Given the description of an element on the screen output the (x, y) to click on. 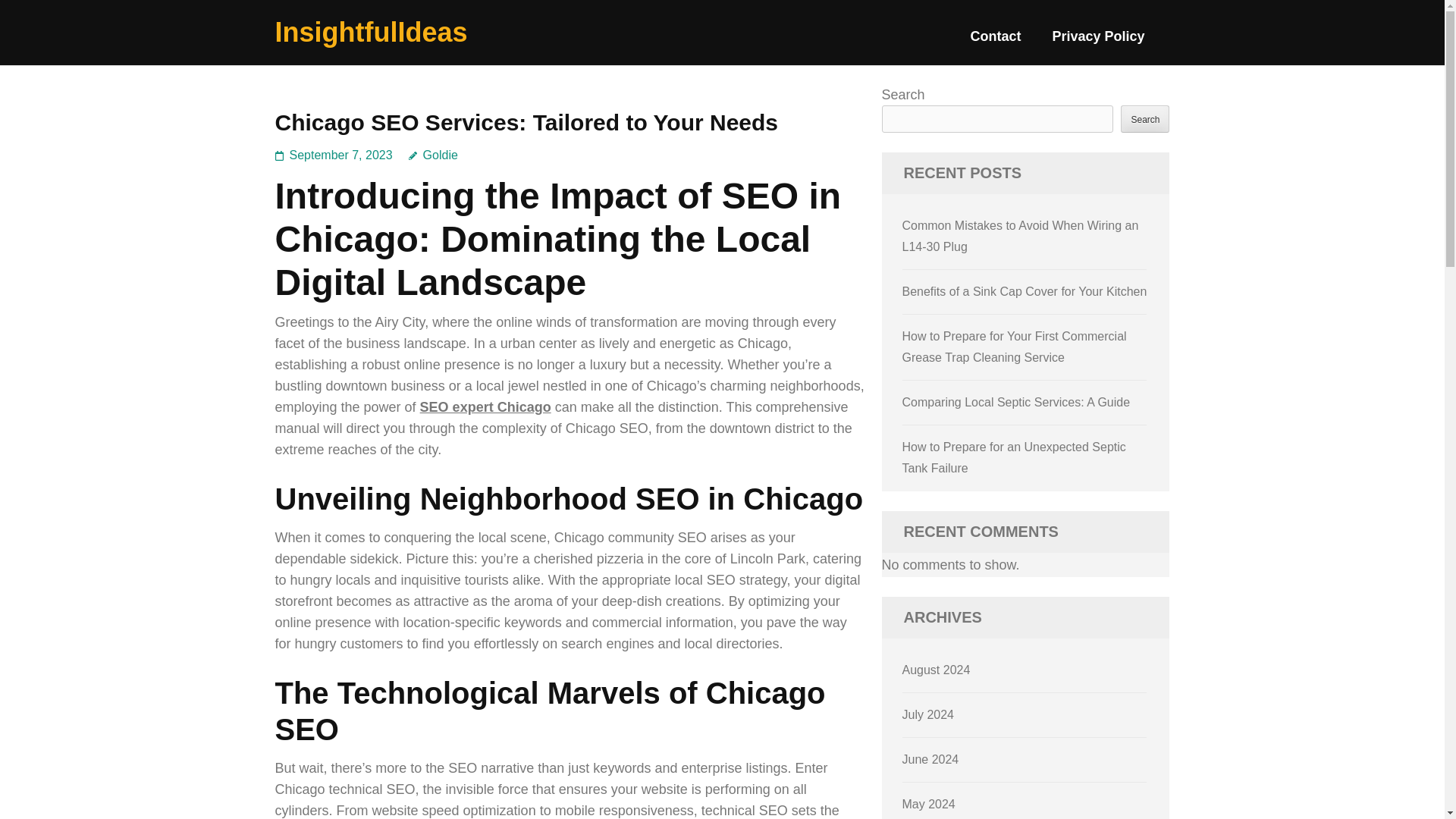
Privacy Policy (1097, 42)
Comparing Local Septic Services: A Guide (1016, 401)
Contact (994, 42)
August 2024 (936, 669)
How to Prepare for an Unexpected Septic Tank Failure (1013, 457)
May 2024 (928, 803)
Search (1145, 118)
July 2024 (928, 714)
Benefits of a Sink Cap Cover for Your Kitchen (1024, 291)
Common Mistakes to Avoid When Wiring an L14-30 Plug (1020, 236)
Goldie (433, 154)
SEO expert Chicago (485, 406)
InsightfulIdeas (371, 31)
September 7, 2023 (341, 154)
